Given the description of an element on the screen output the (x, y) to click on. 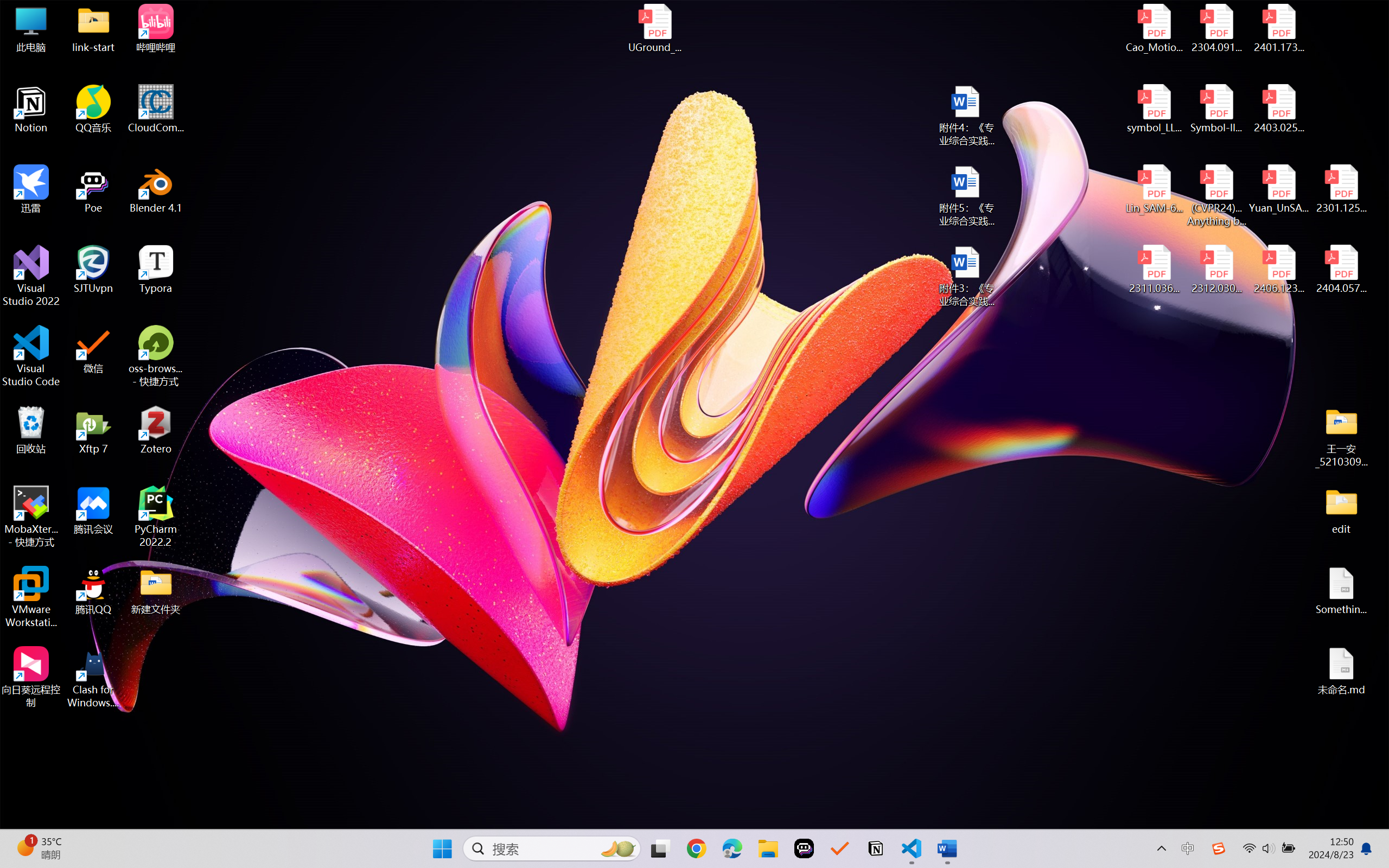
Typora (156, 269)
(CVPR24)Matching Anything by Segmenting Anything.pdf (1216, 195)
VMware Workstation Pro (31, 597)
2406.12373v2.pdf (1278, 269)
Something.md (1340, 591)
